Given the description of an element on the screen output the (x, y) to click on. 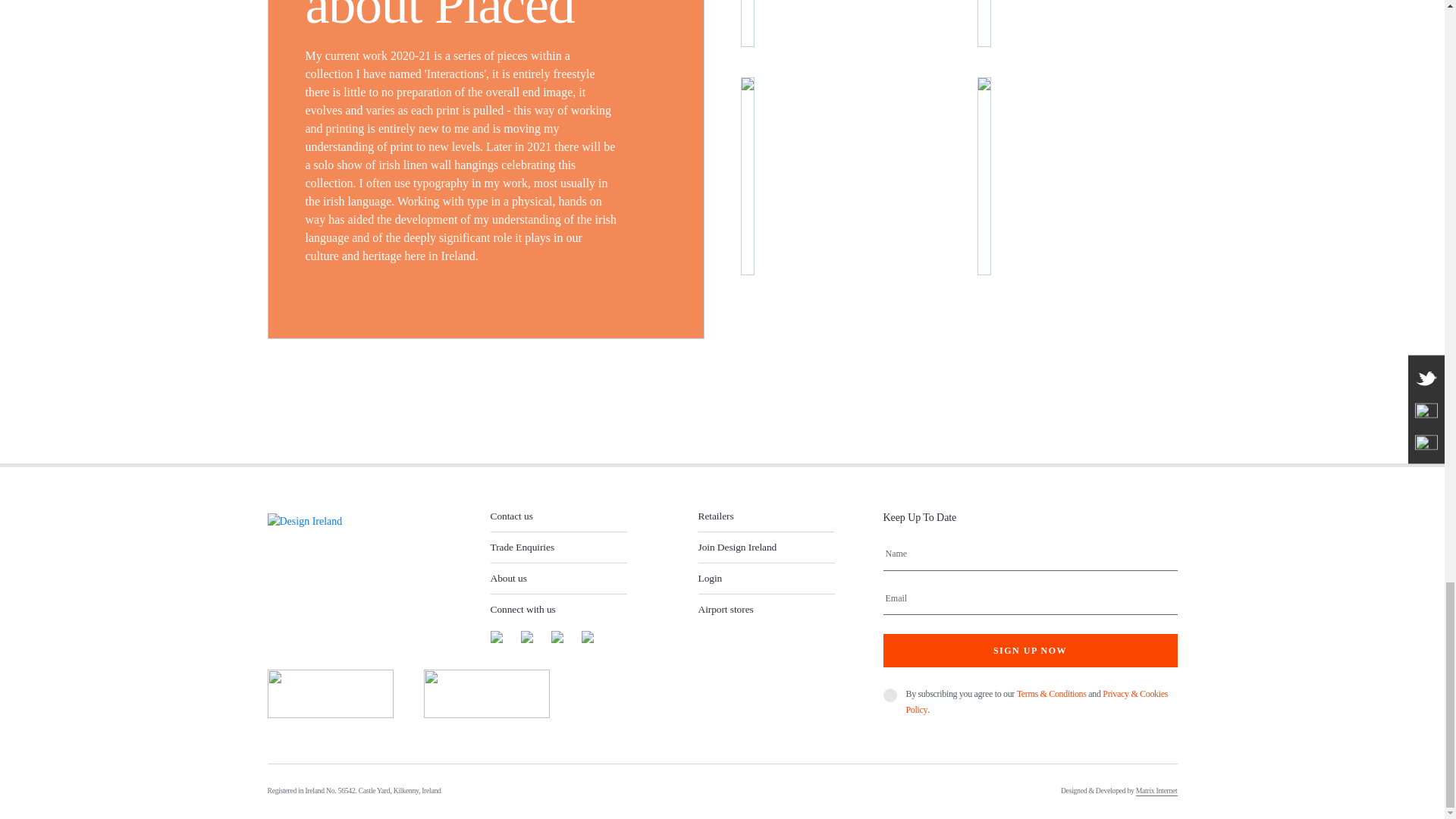
sign up now (1029, 650)
